Given the description of an element on the screen output the (x, y) to click on. 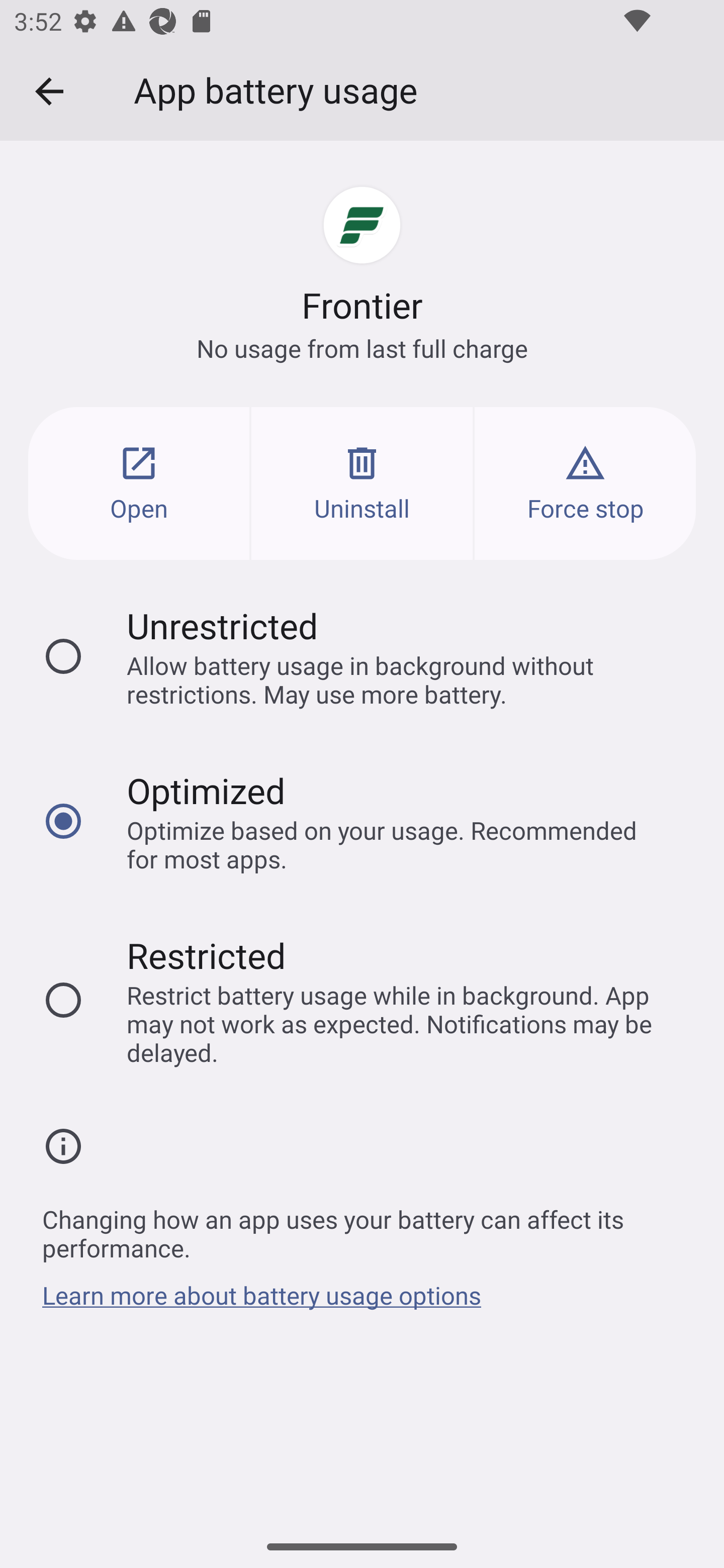
Navigate up (49, 91)
Open (138, 483)
Uninstall (361, 483)
Force stop (584, 483)
